Given the description of an element on the screen output the (x, y) to click on. 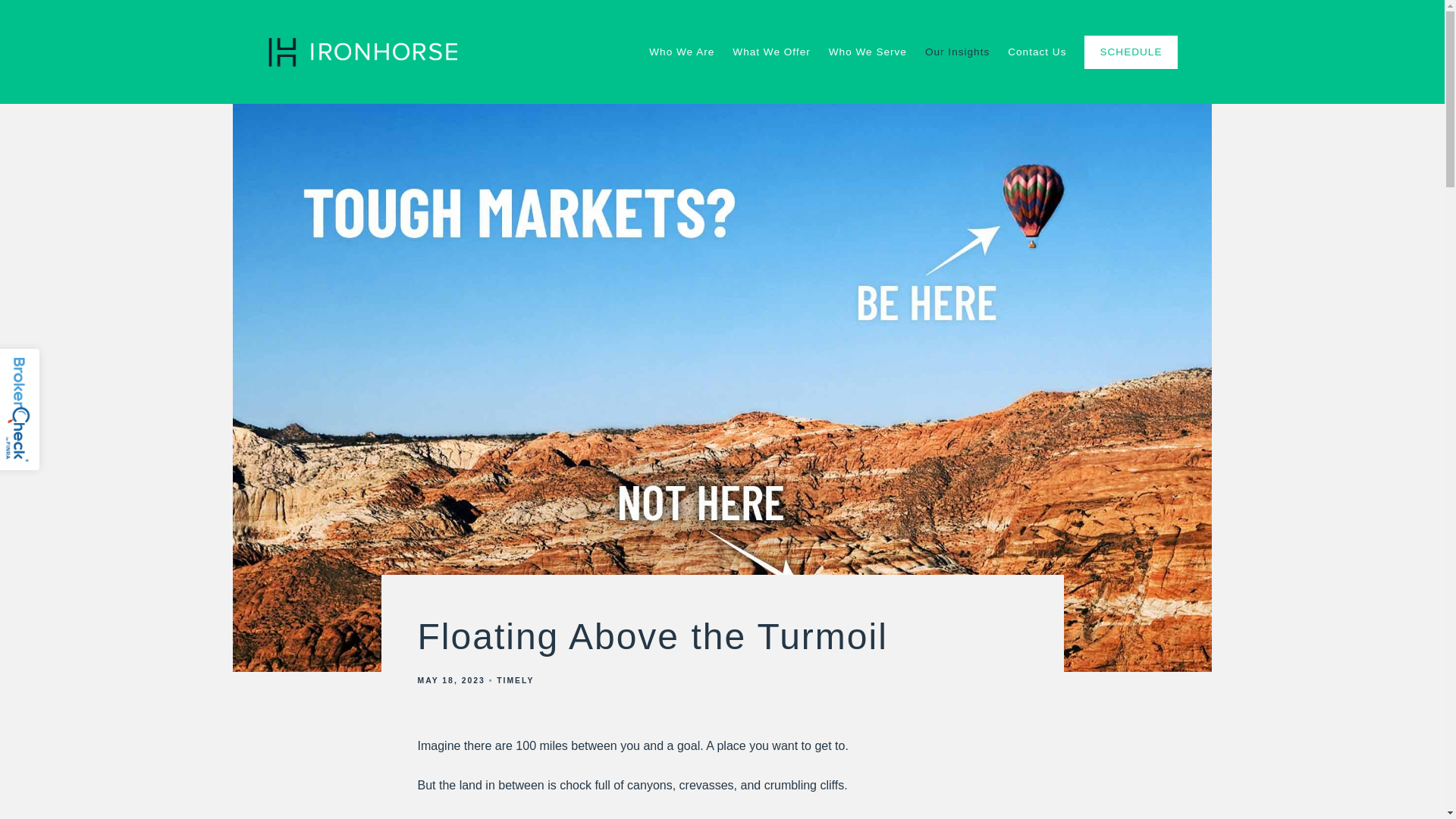
What We Offer (770, 52)
TIMELY (515, 680)
Contact Us (1036, 52)
Who We Are (681, 52)
Who We Serve (867, 52)
SCHEDULE (1130, 52)
Our Insights (957, 52)
